Given the description of an element on the screen output the (x, y) to click on. 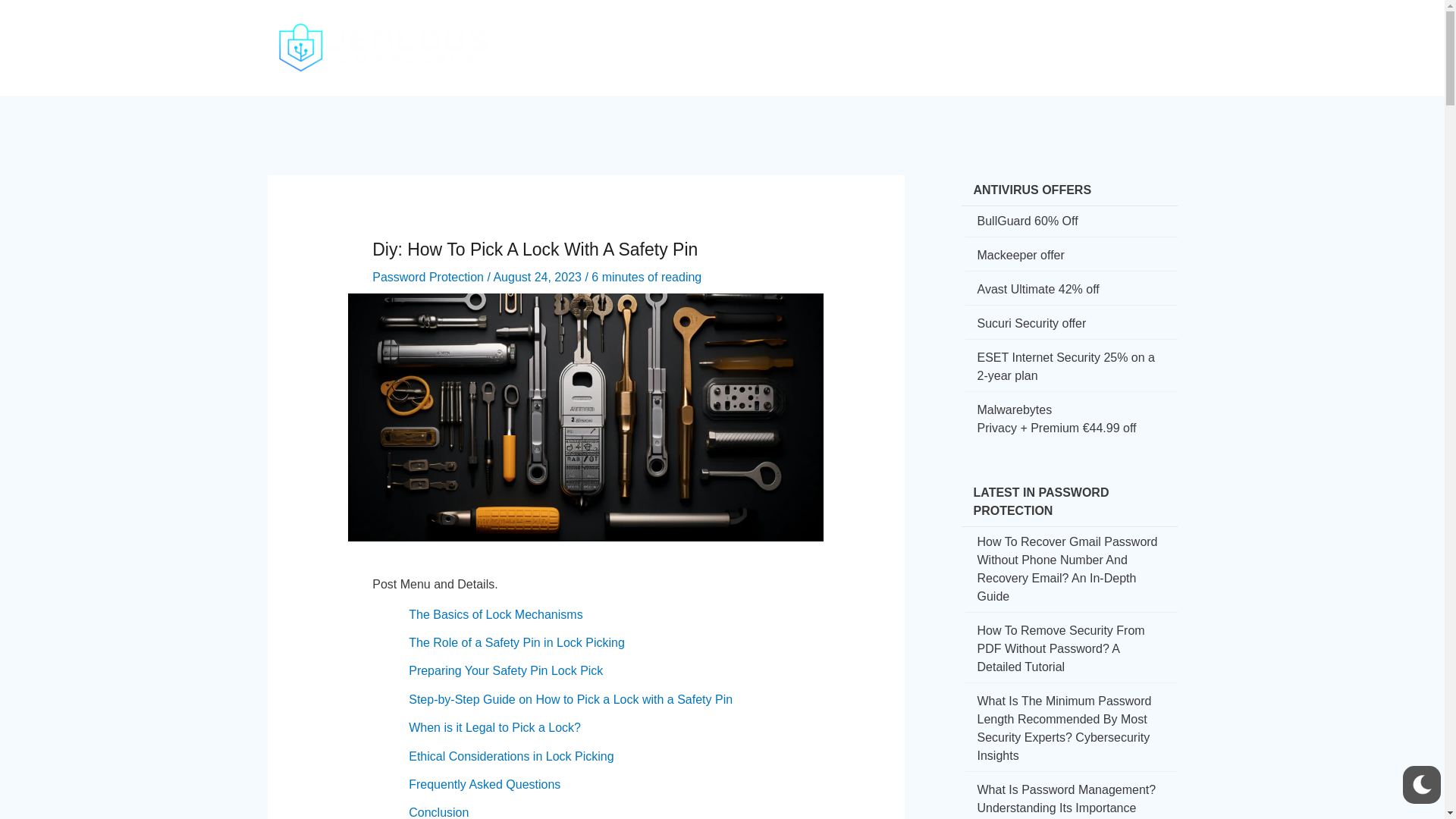
Frequently Asked Questions (484, 784)
Misc (1122, 35)
10 Best (1064, 35)
Finances (929, 35)
Conclusion (438, 812)
Gaming (999, 35)
Cyber Security (713, 35)
When is it Legal to Pick a Lock? (494, 727)
The Role of a Safety Pin in Lock Picking (516, 642)
Password Protection (427, 277)
Social (863, 35)
Ethical Considerations in Lock Picking (510, 756)
The Basics of Lock Mechanisms (495, 614)
Preparing Your Safety Pin Lock Pick (505, 670)
Step-by-Step Guide on How to Pick a Lock with a Safety Pin (570, 698)
